Given the description of an element on the screen output the (x, y) to click on. 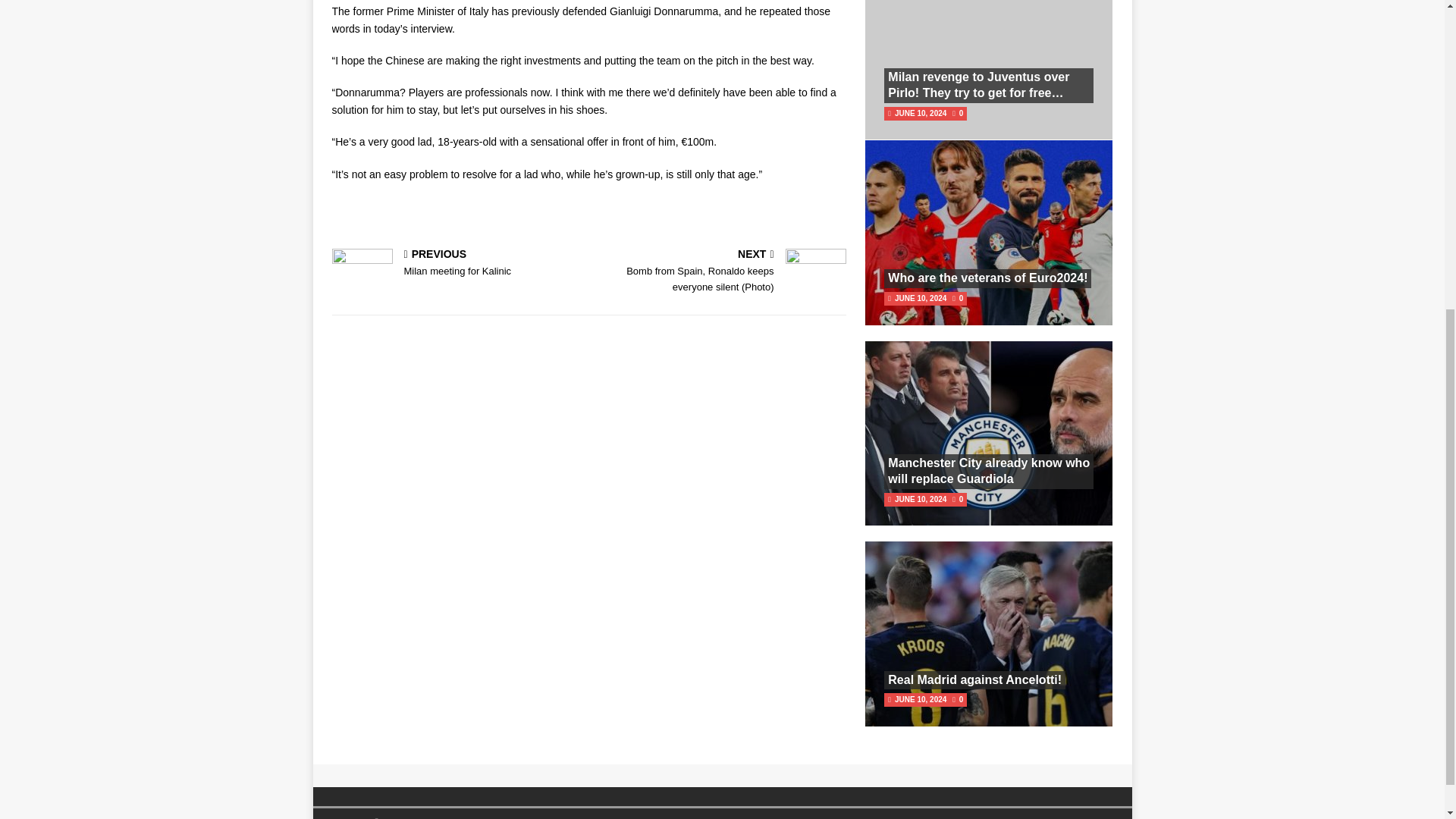
Manchester City already know who will replace Guardiola (988, 470)
Real Madrid against Ancelotti! (457, 264)
Who are the veterans of Euro2024! (974, 679)
Real Madrid against Ancelotti! (987, 277)
Manchester City already know who will replace Guardiola (974, 679)
Who are the veterans of Euro2024! (988, 470)
